Given the description of an element on the screen output the (x, y) to click on. 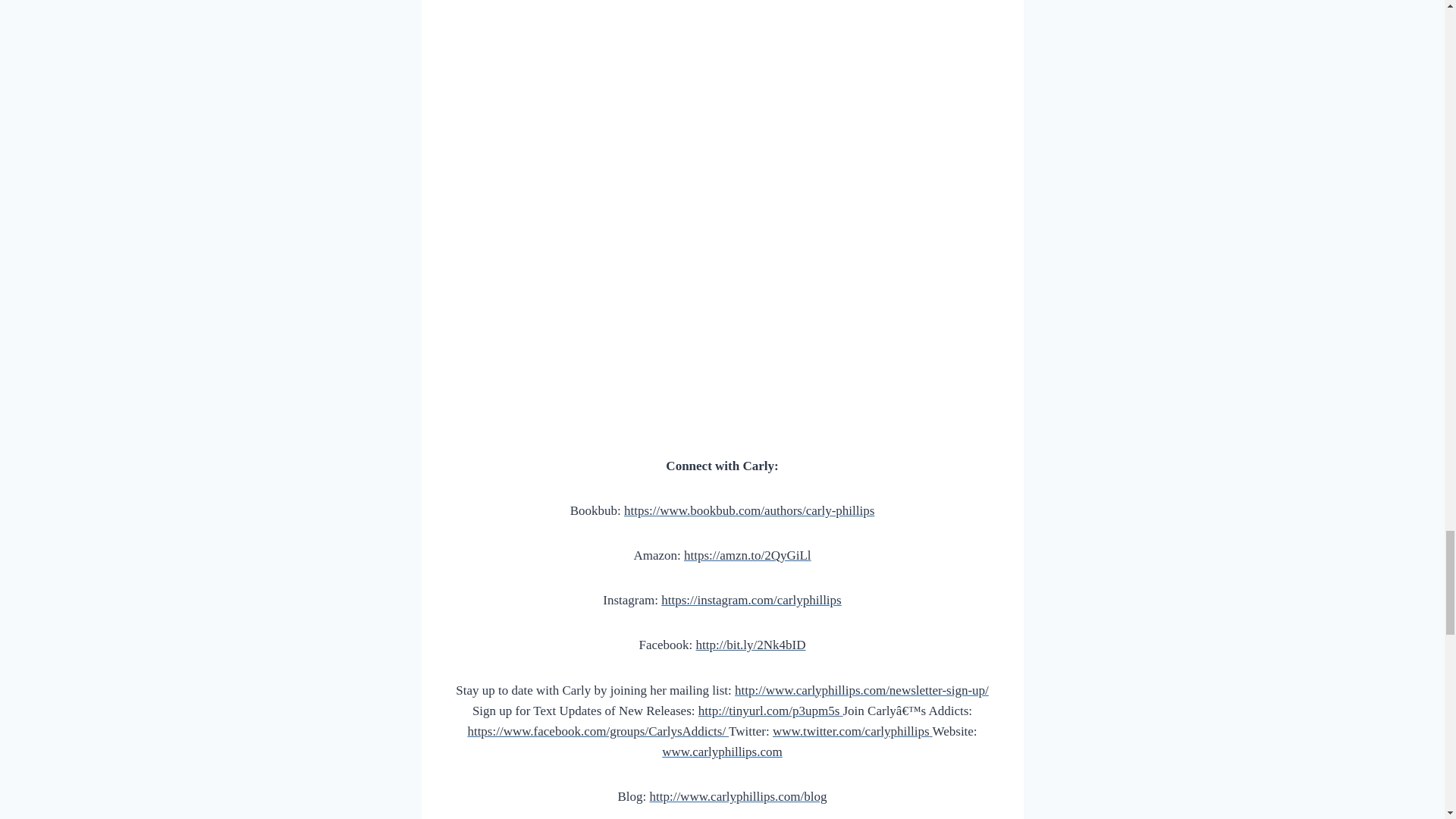
www.carlyphillips.com (721, 751)
